Given the description of an element on the screen output the (x, y) to click on. 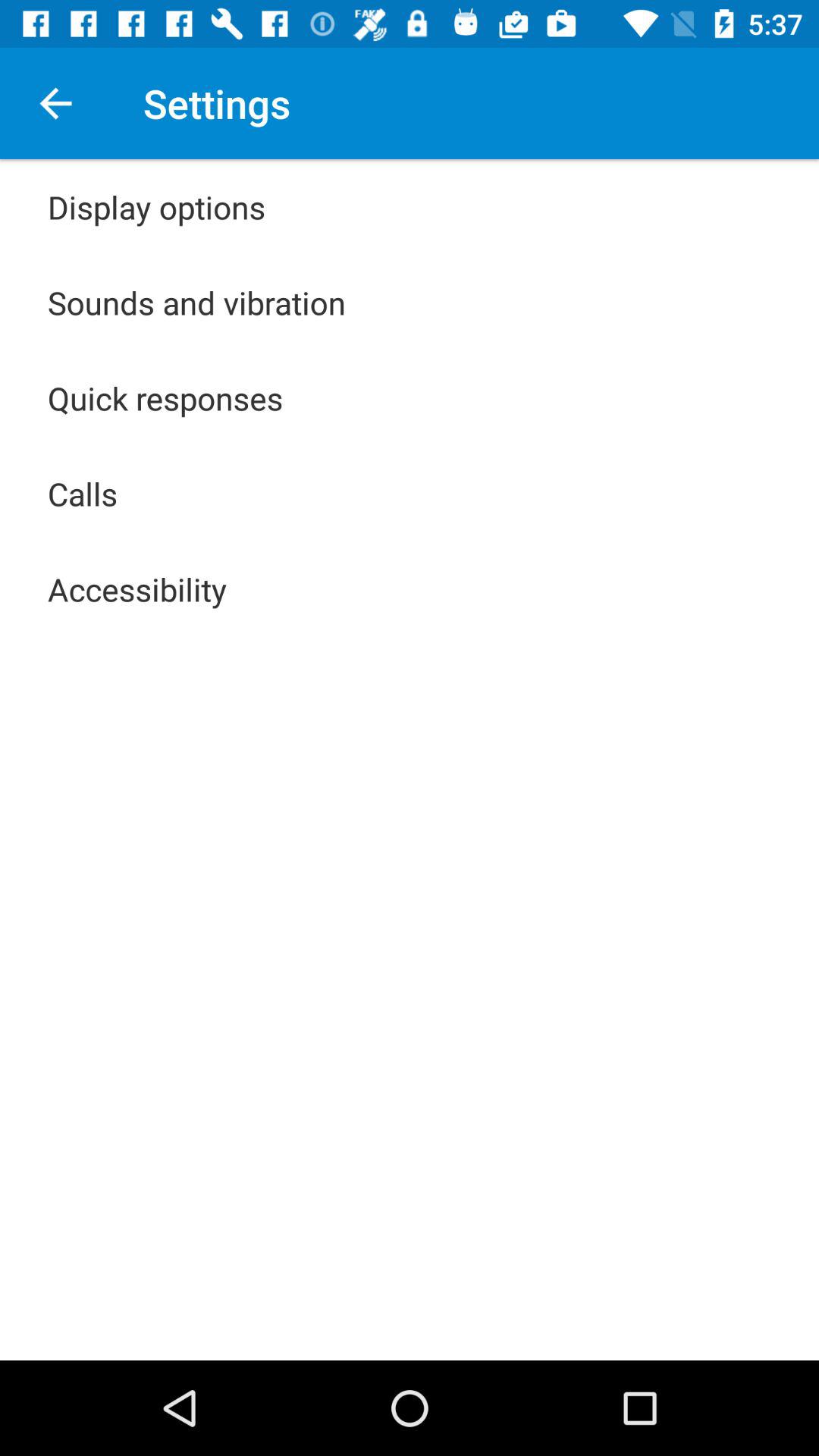
click the icon above display options icon (55, 103)
